Given the description of an element on the screen output the (x, y) to click on. 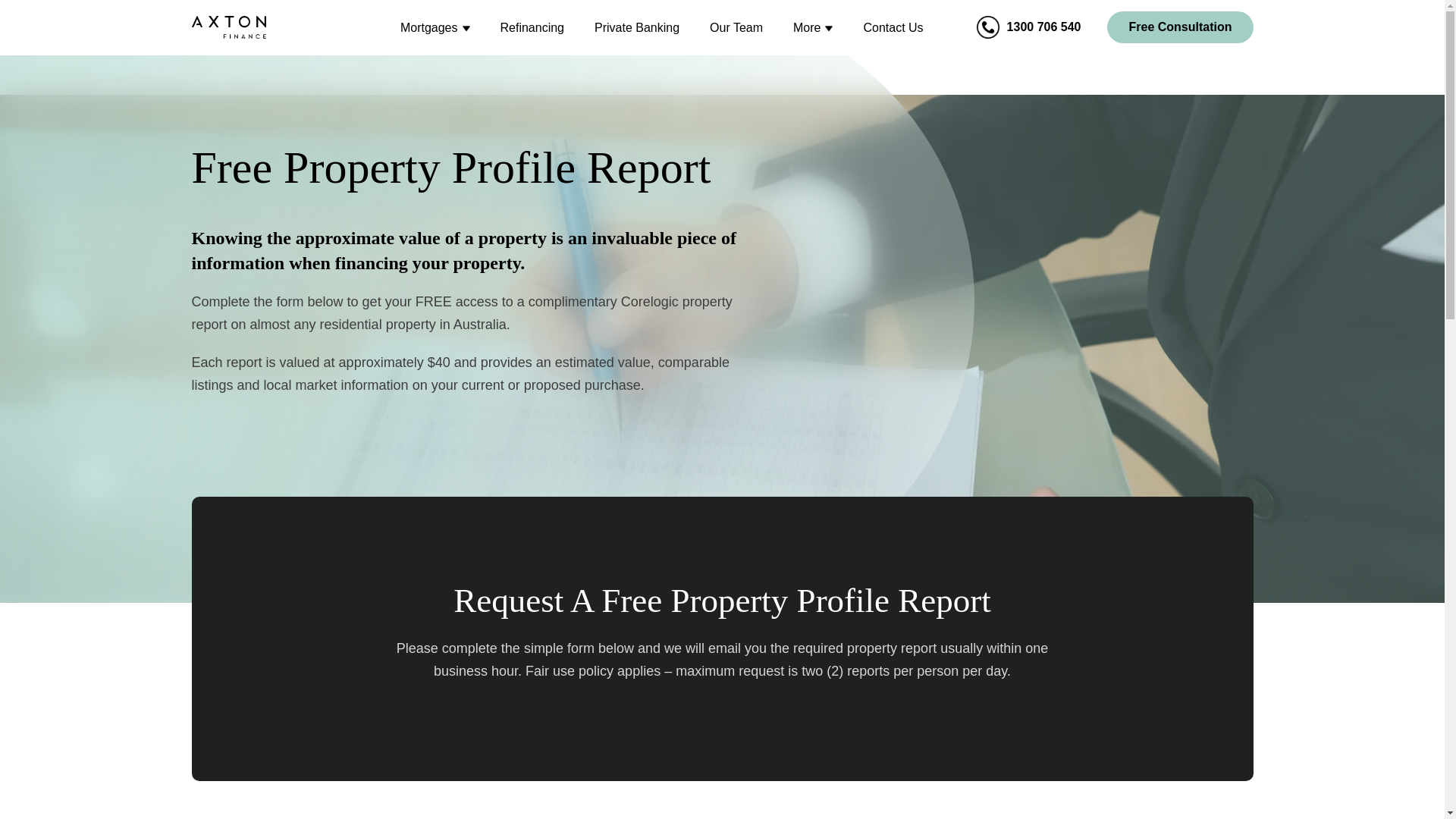
Mortages (429, 27)
1300 706 540 (1036, 27)
Refinancing (532, 27)
Private Banking (636, 27)
Mortgages (429, 27)
Our Team (736, 27)
Private Banking (636, 27)
1300 706 540 (1036, 27)
More (807, 27)
Axton (228, 26)
